Given the description of an element on the screen output the (x, y) to click on. 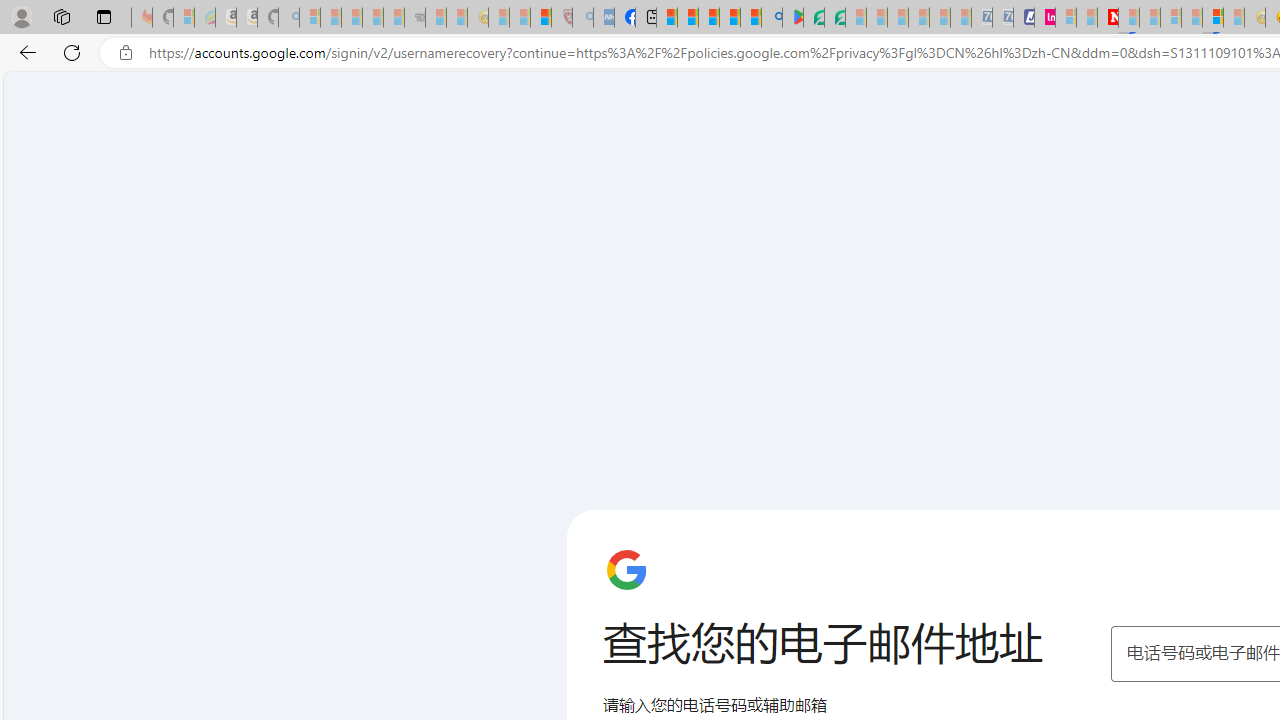
MSNBC - MSN (666, 17)
Cheap Hotels - Save70.com - Sleeping (1002, 17)
Latest Politics News & Archive | Newsweek.com (1107, 17)
Local - MSN (541, 17)
Recipes - MSN - Sleeping (499, 17)
Microsoft-Report a Concern to Bing - Sleeping (184, 17)
Bluey: Let's Play! - Apps on Google Play (792, 17)
